Given the description of an element on the screen output the (x, y) to click on. 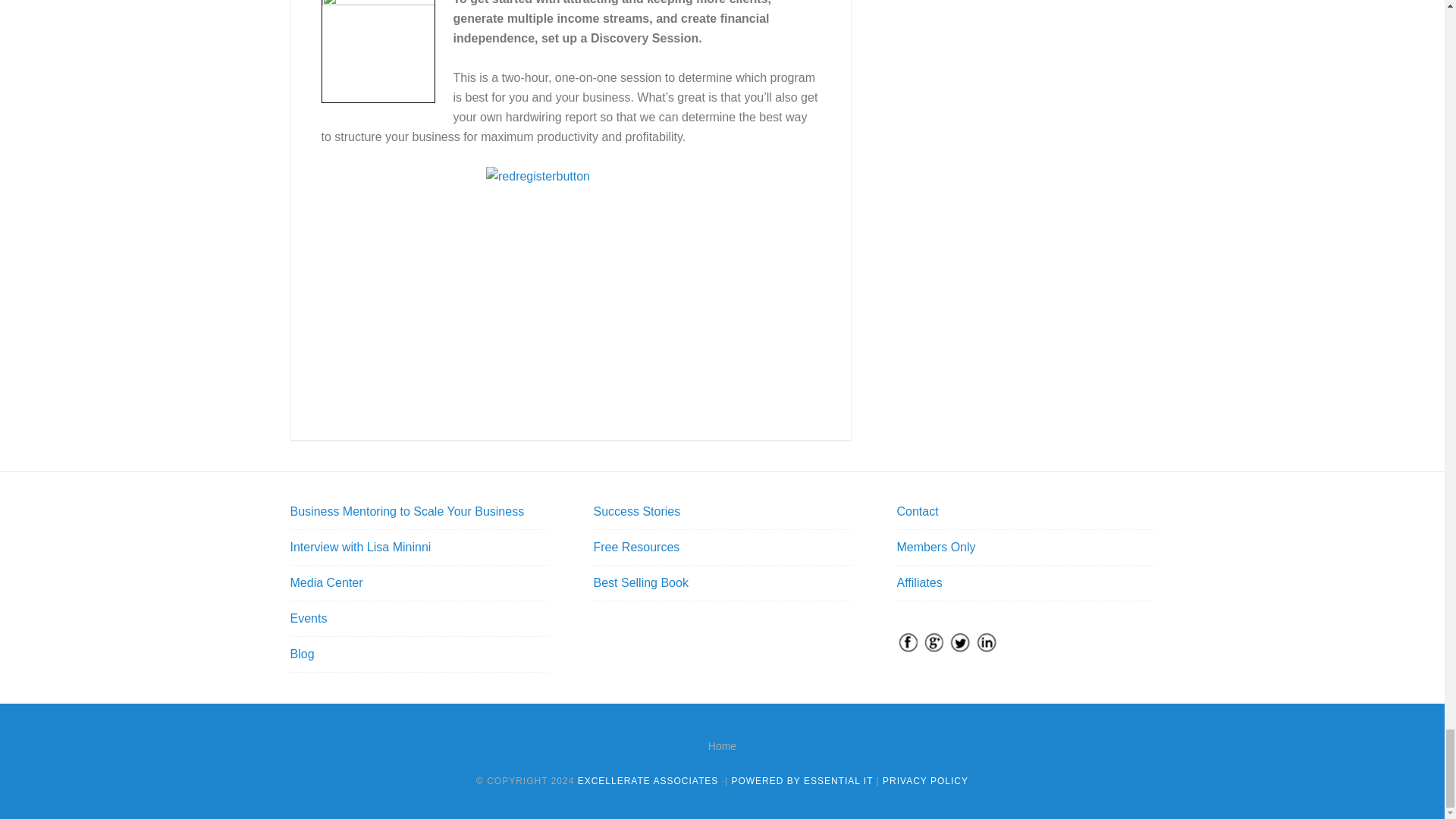
Do You Like to be Challenged? (378, 51)
